Given the description of an element on the screen output the (x, y) to click on. 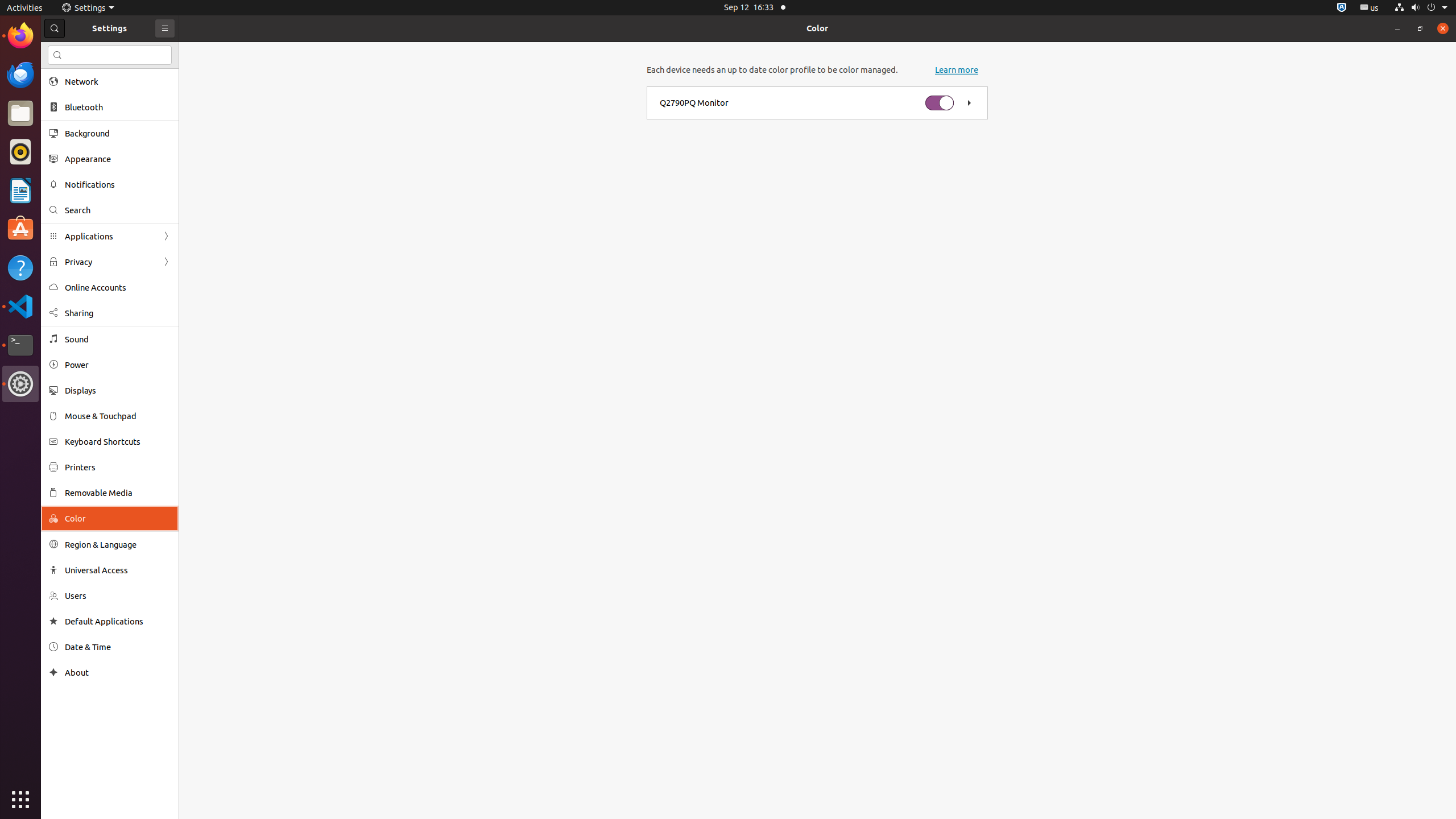
IsaHelpMain.desktop Element type: label (75, 170)
luyi1 Element type: label (75, 50)
Appearance Element type: label (117, 158)
Displays Element type: label (117, 390)
